Given the description of an element on the screen output the (x, y) to click on. 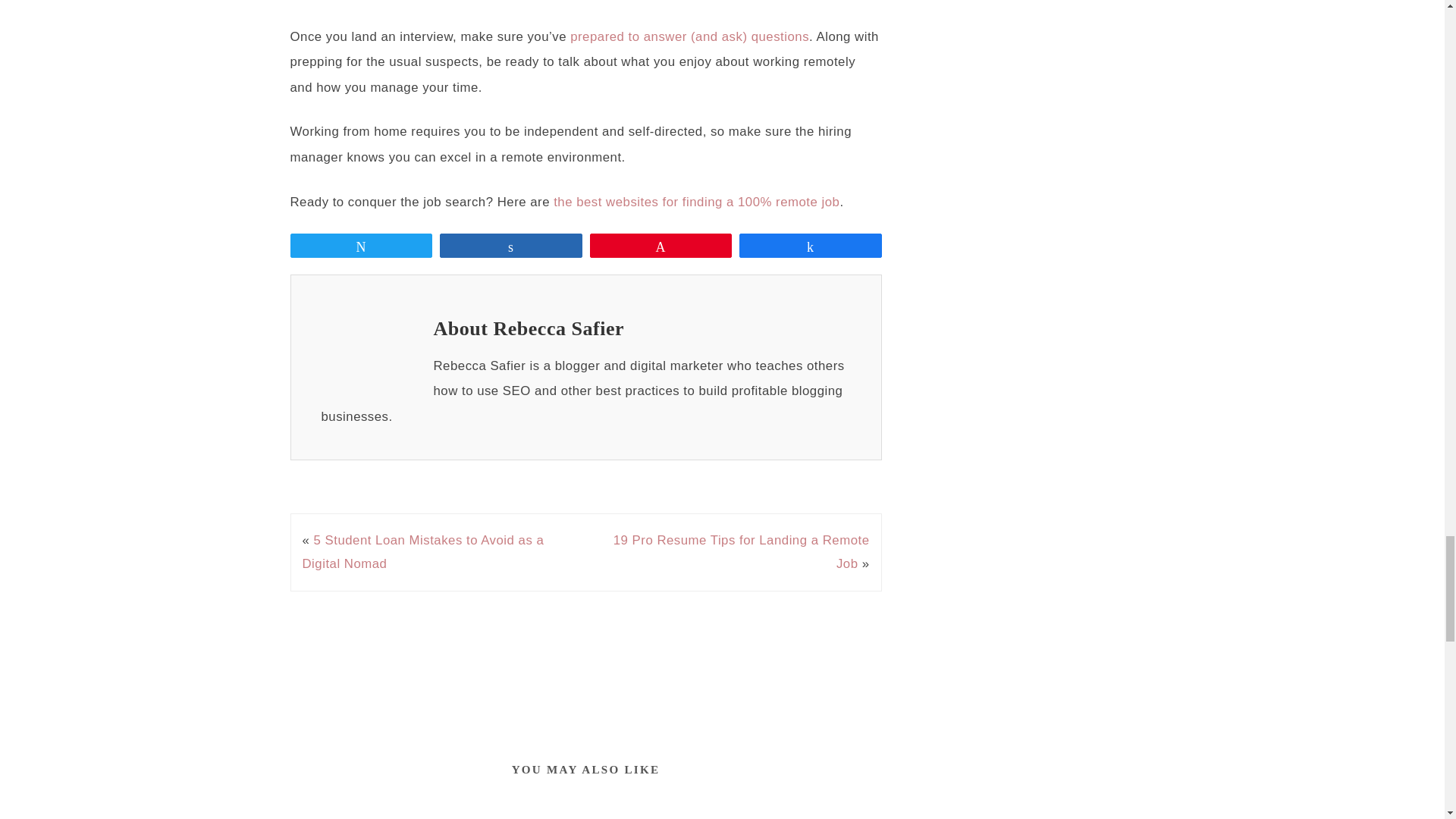
5 Student Loan Mistakes to Avoid as a Digital Nomad (422, 551)
